Given the description of an element on the screen output the (x, y) to click on. 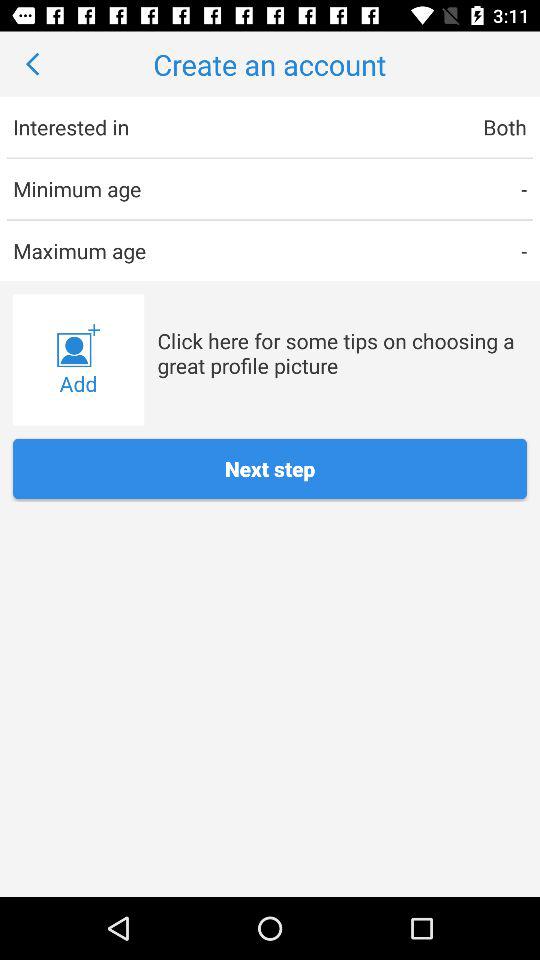
open the icon above next step (78, 359)
